Given the description of an element on the screen output the (x, y) to click on. 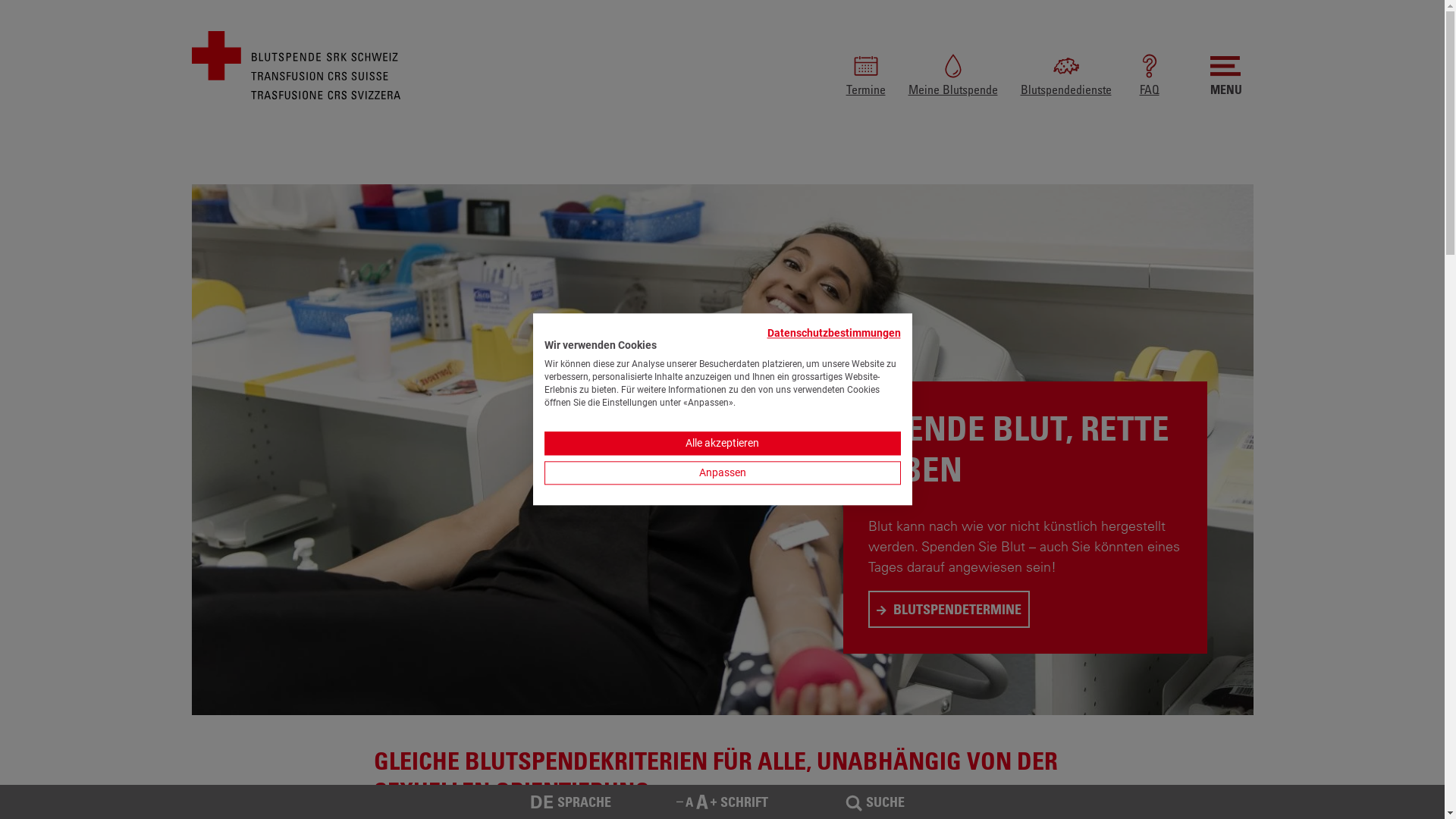
Meine Blutspende Element type: text (952, 74)
Link zur Startseite Element type: hover (295, 63)
FAQ Element type: text (1149, 74)
Termine Element type: text (865, 74)
BLUTSPENDETERMINE Element type: text (948, 608)
MENU Element type: text (1226, 74)
Alle akzeptieren Element type: text (722, 443)
Anpassen Element type: text (722, 473)
Datenschutzbestimmungen Element type: text (833, 332)
Direkt zum Inhalt Element type: text (0, 183)
Direkt zum Inhalt Element type: text (0, 184)
Blutspendedienste Element type: text (1065, 74)
